Given the description of an element on the screen output the (x, y) to click on. 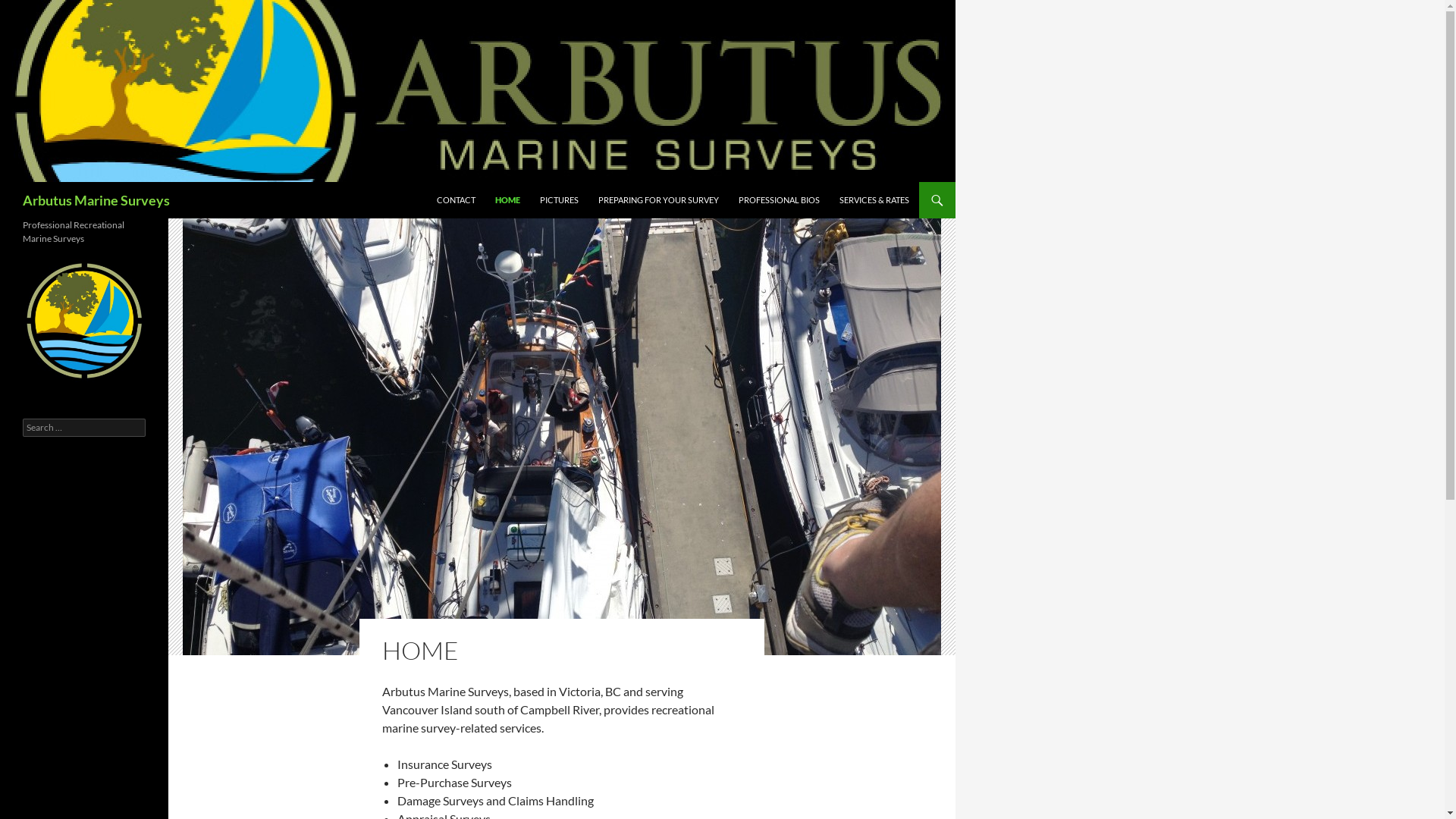
SKIP TO CONTENT Element type: text (435, 181)
Search Element type: text (29, 9)
Search Element type: text (3, 181)
CONTACT Element type: text (455, 200)
PREPARING FOR YOUR SURVEY Element type: text (658, 200)
SERVICES & RATES Element type: text (874, 200)
HOME Element type: text (507, 200)
Arbutus Marine Surveys Element type: text (95, 200)
PICTURES Element type: text (558, 200)
PROFESSIONAL BIOS Element type: text (778, 200)
